Given the description of an element on the screen output the (x, y) to click on. 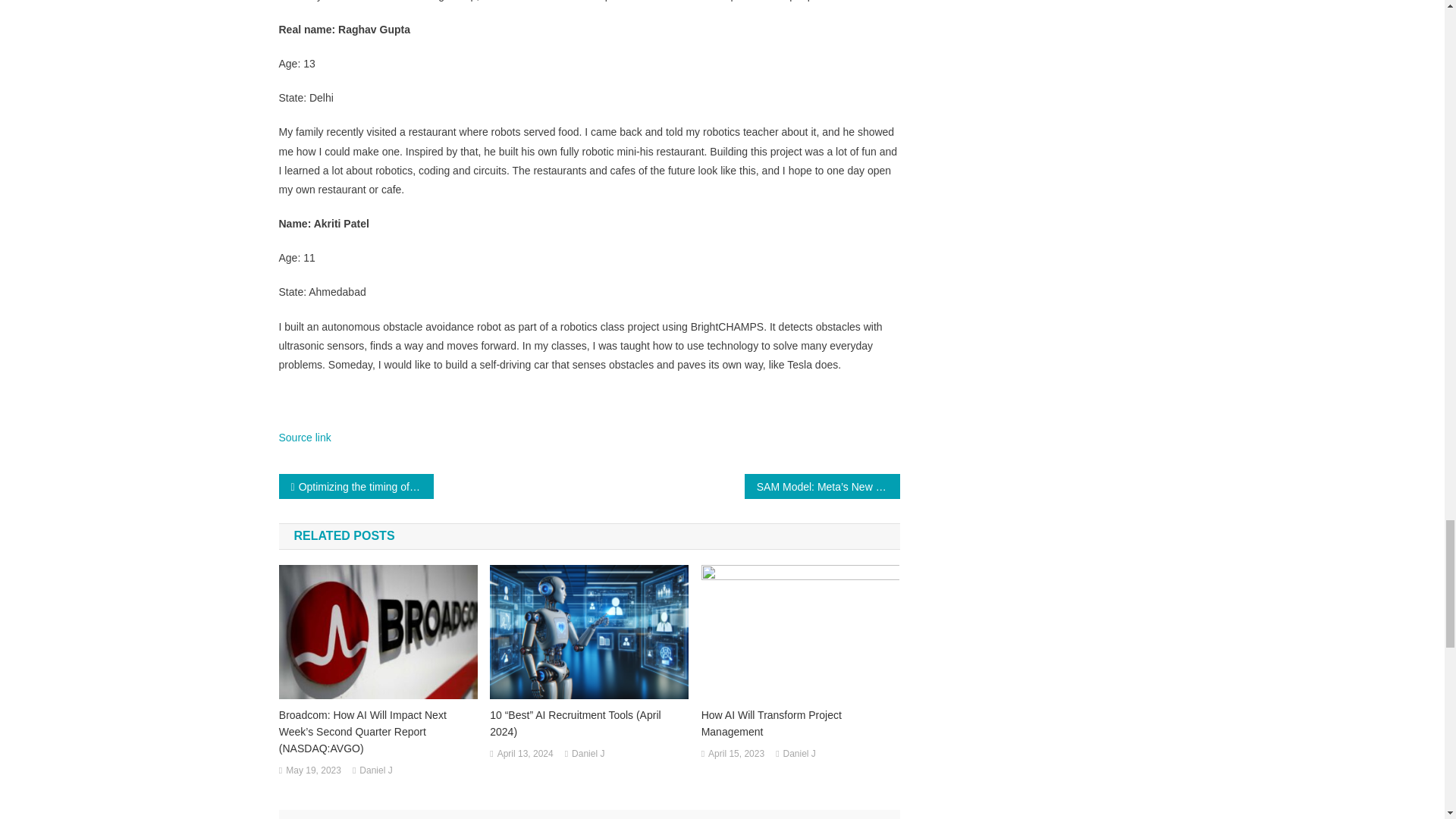
May 19, 2023 (312, 770)
Daniel J (799, 754)
April 13, 2024 (525, 754)
April 15, 2023 (735, 754)
Source link (305, 437)
Daniel J (375, 770)
Daniel J (588, 754)
How AI Will Transform Project Management (800, 723)
